Given the description of an element on the screen output the (x, y) to click on. 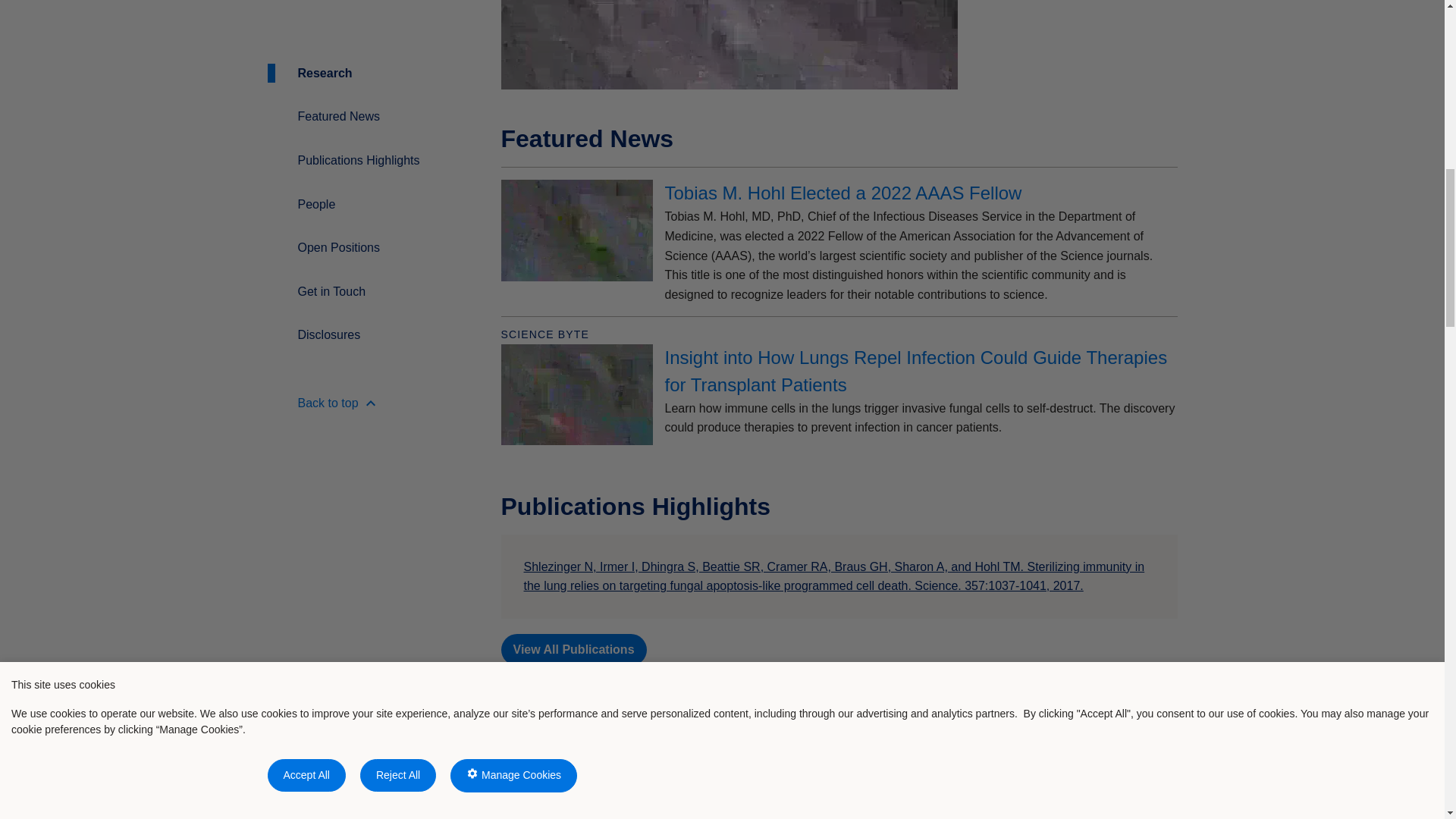
View All Publications (573, 649)
